Given the description of an element on the screen output the (x, y) to click on. 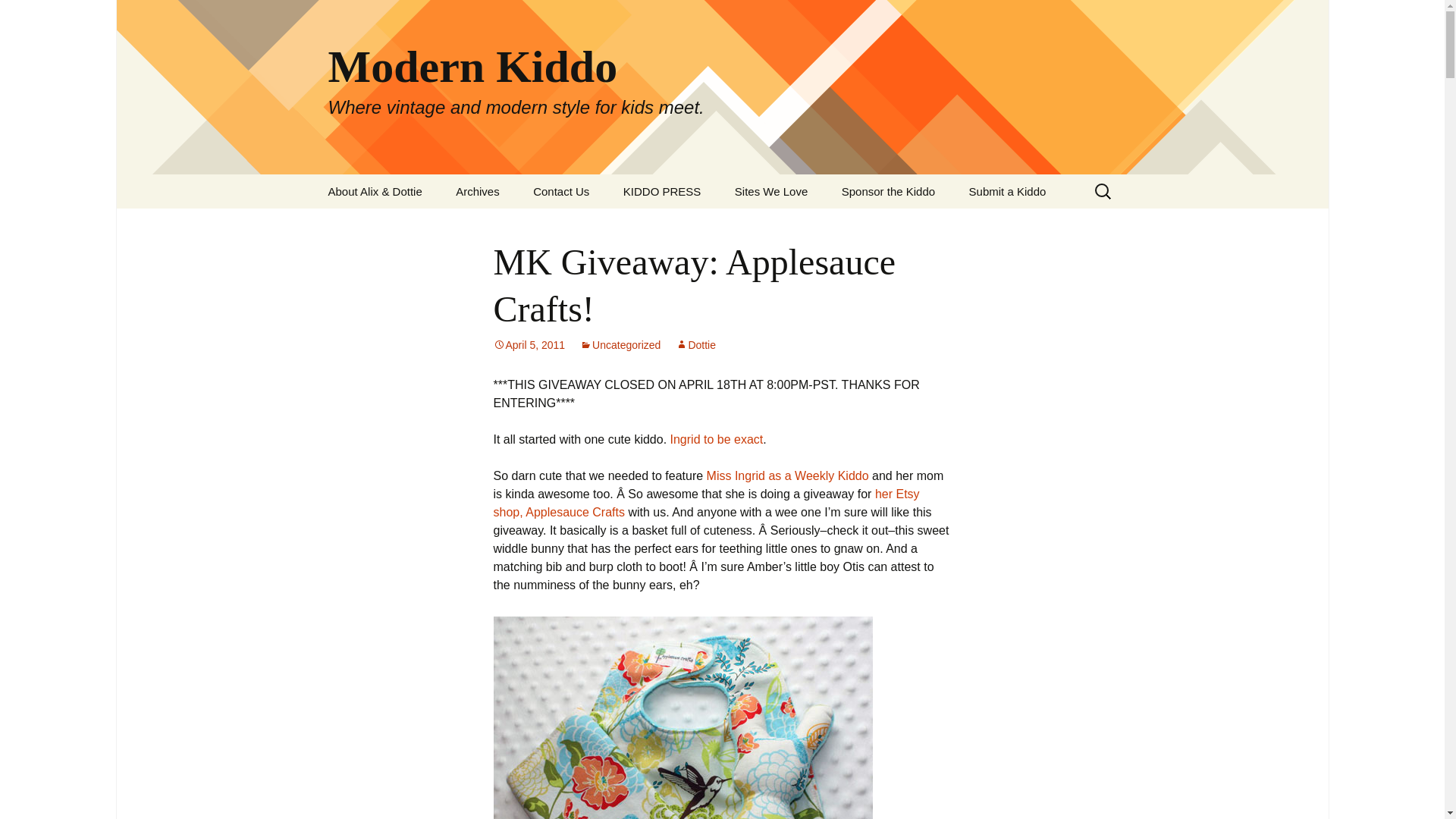
Sponsor the Kiddo (888, 191)
April 5, 2011 (528, 345)
Dottie (695, 345)
View all posts by Dottie (695, 345)
Submit a Kiddo (1007, 191)
Uncategorized (620, 345)
Ingrid to be exact (715, 439)
Search (18, 15)
Miss Ingrid as a Weekly Kiddo (787, 475)
KIDDO PRESS (662, 191)
